Given the description of an element on the screen output the (x, y) to click on. 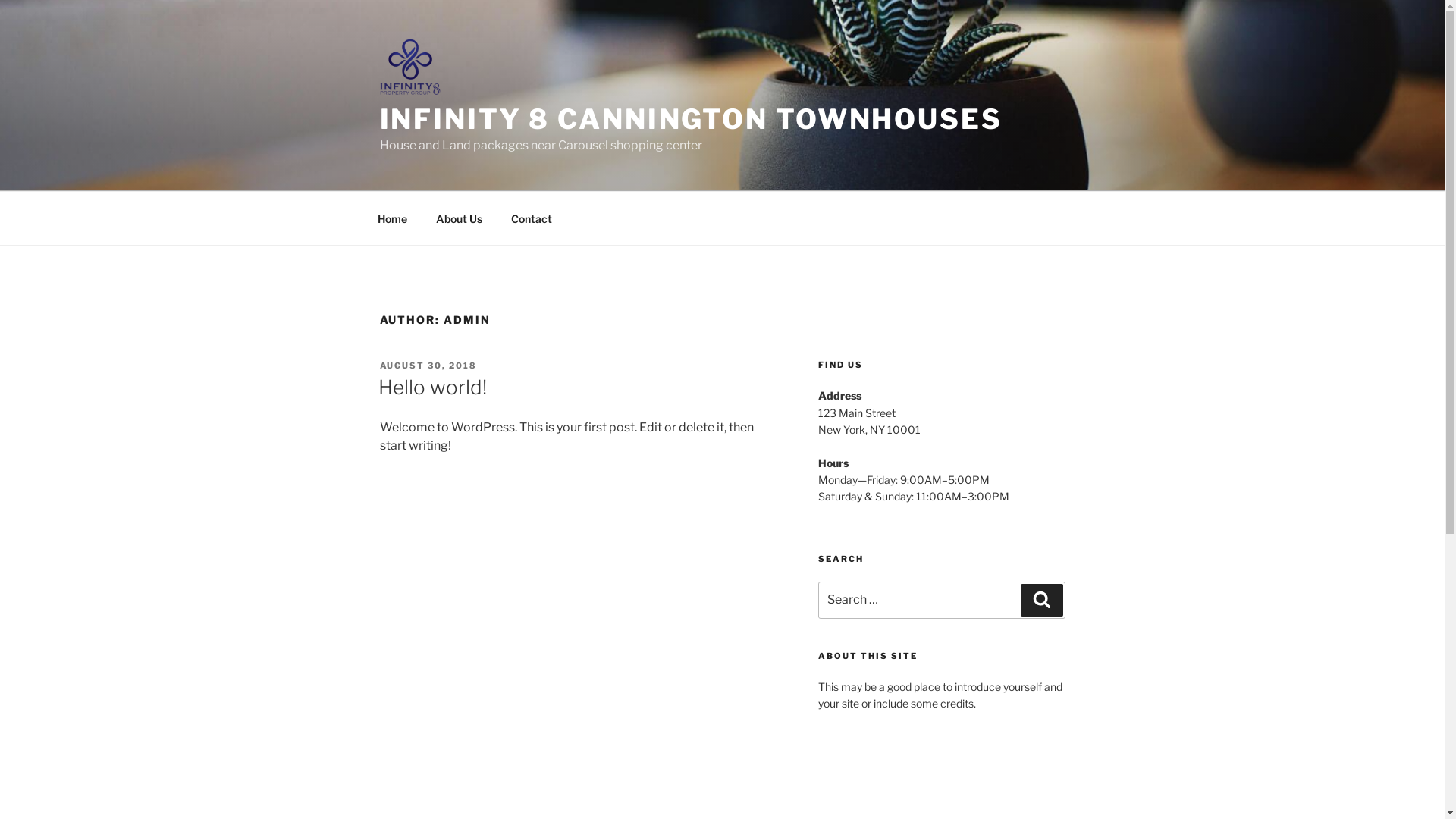
Contact Element type: text (530, 218)
Hello world! Element type: text (431, 386)
Search Element type: text (1041, 599)
About Us Element type: text (459, 218)
AUGUST 30, 2018 Element type: text (427, 365)
Home Element type: text (392, 218)
INFINITY 8 CANNINGTON TOWNHOUSES Element type: text (690, 118)
